Given the description of an element on the screen output the (x, y) to click on. 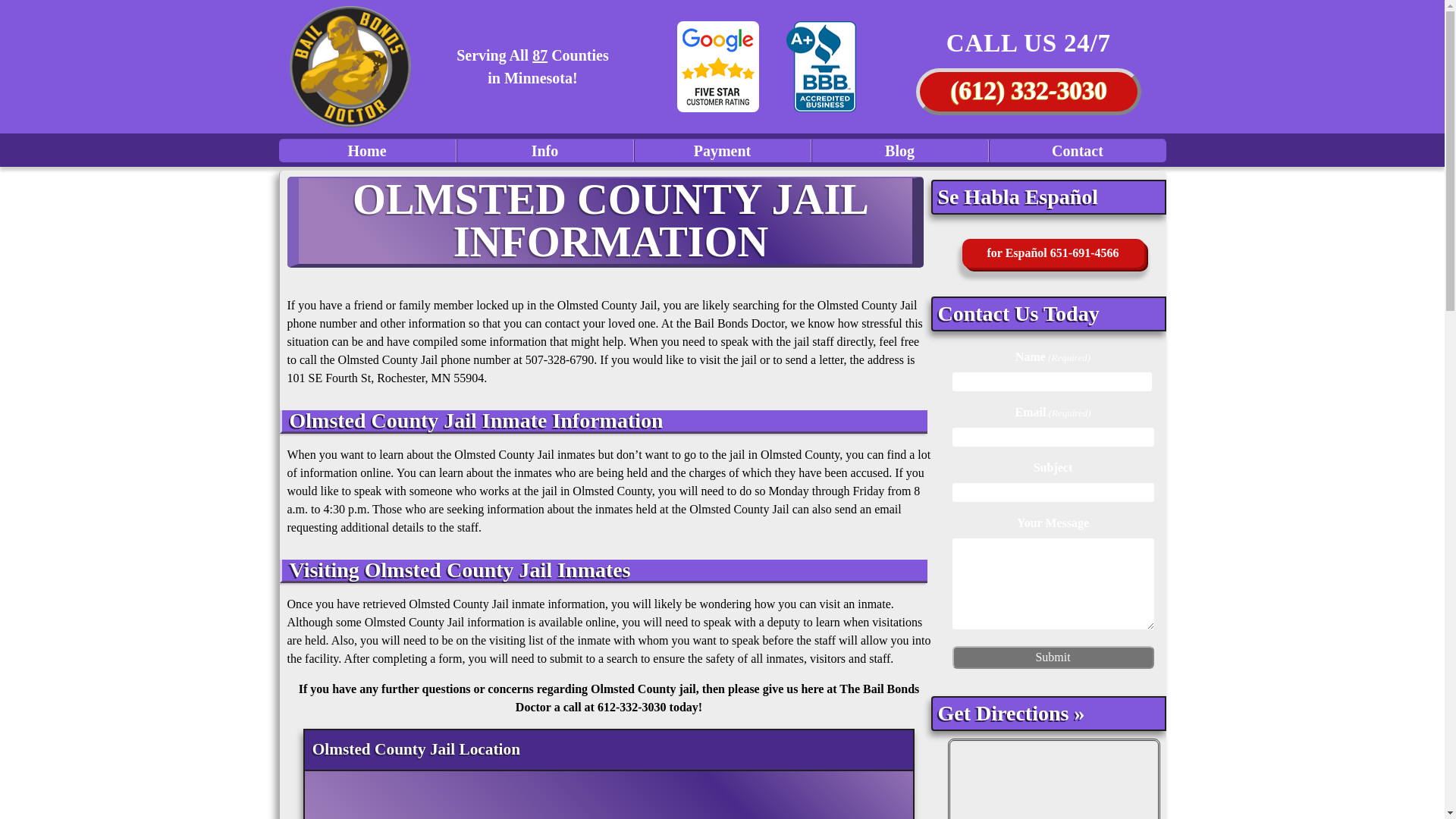
Contact (1077, 150)
Submit (1053, 657)
Home (368, 150)
Submit (1053, 657)
Info (545, 150)
Blog (899, 150)
Payment (721, 150)
